Given the description of an element on the screen output the (x, y) to click on. 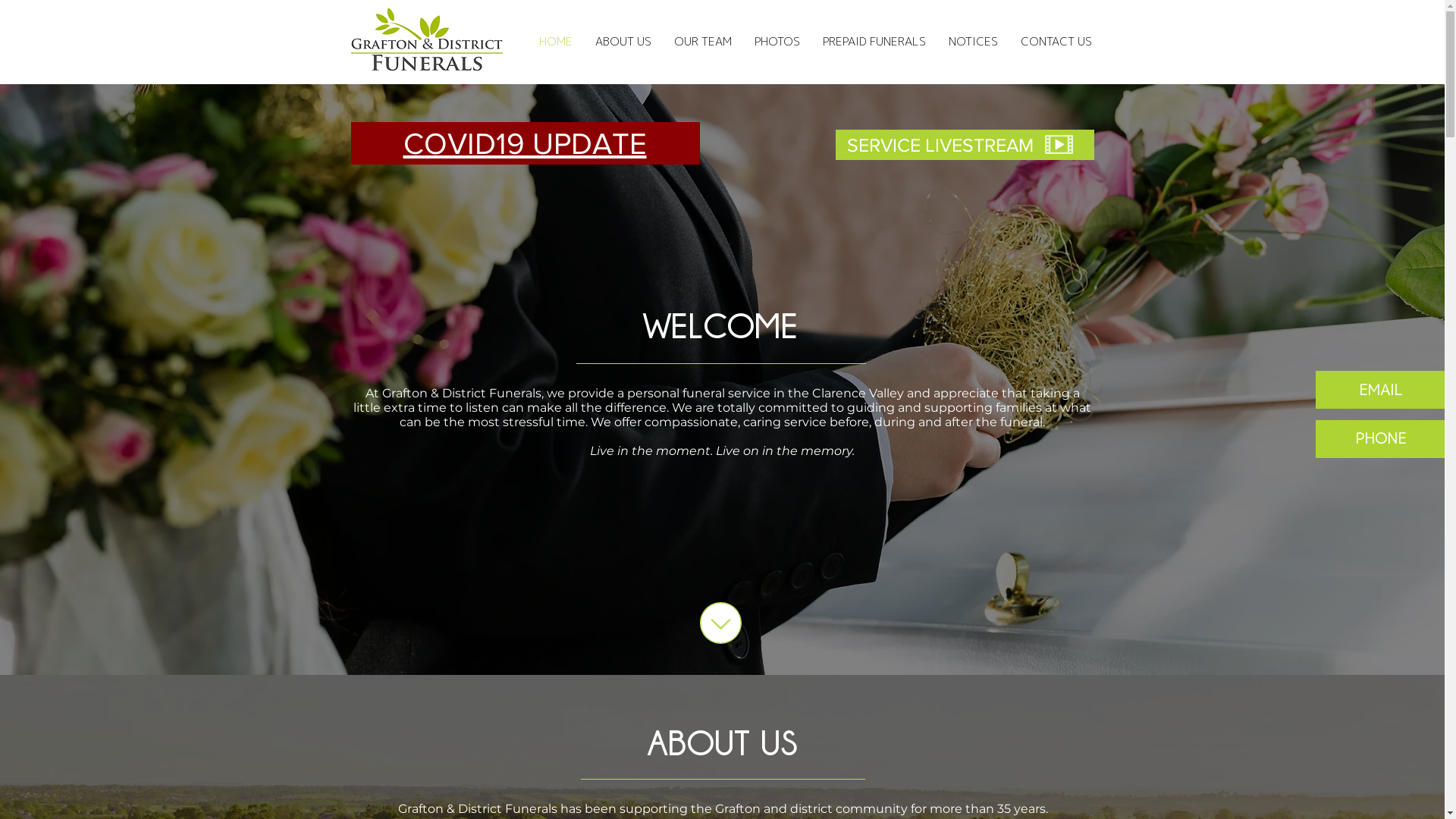
HOME Element type: text (555, 41)
PHONE Element type: text (1379, 439)
OUR TEAM Element type: text (702, 41)
PREPAID FUNERALS Element type: text (874, 41)
COVID19 UPDATE Element type: text (524, 143)
NOTICES Element type: text (973, 41)
ABOUT US Element type: text (622, 41)
PHOTOS Element type: text (777, 41)
SERVICE LIVESTREAM Element type: text (939, 144)
EMAIL Element type: text (1379, 389)
CONTACT US Element type: text (1055, 41)
